Given the description of an element on the screen output the (x, y) to click on. 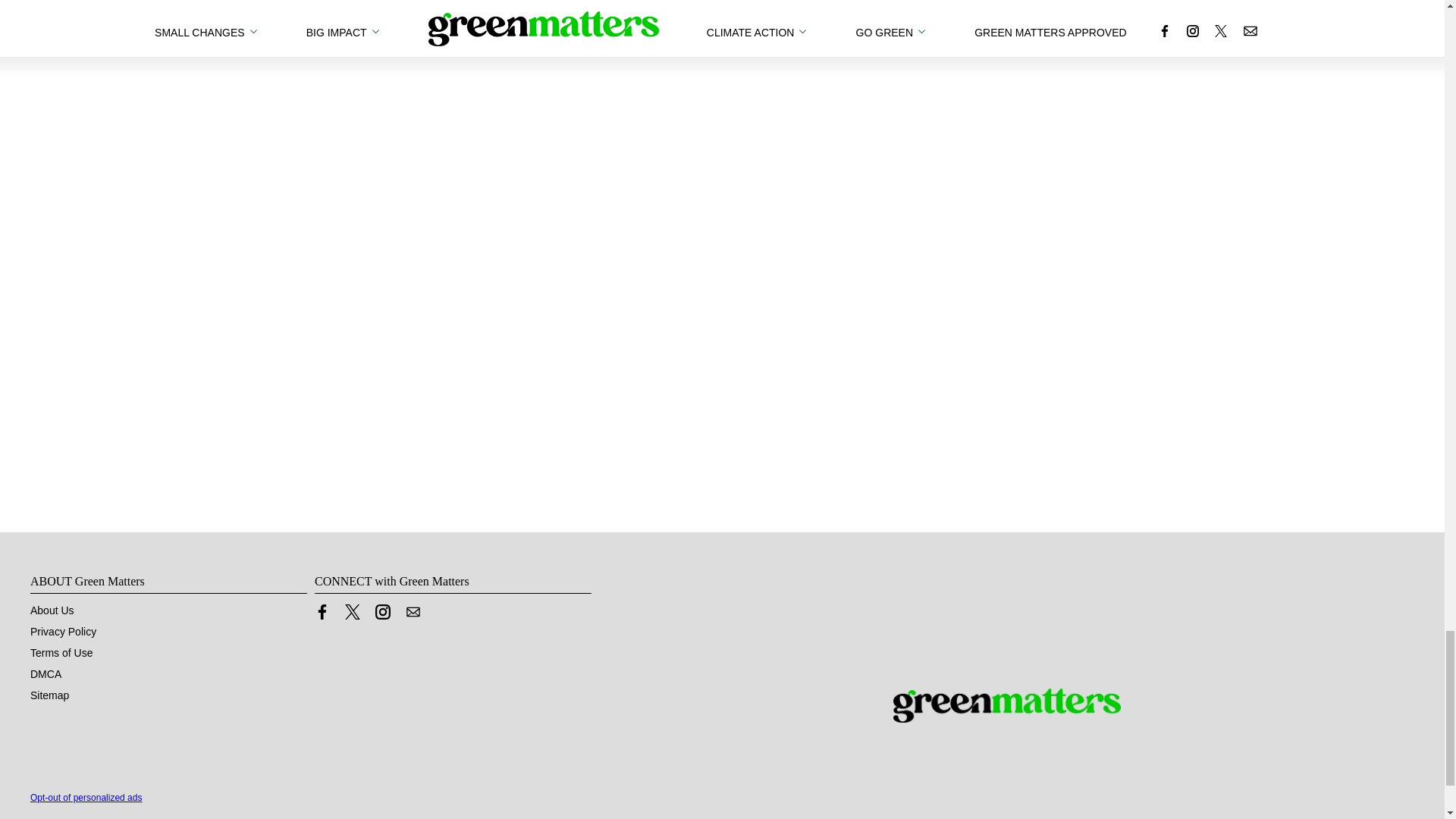
Contact us by Email (413, 611)
Link to X (352, 611)
Link to Facebook (322, 611)
DMCA (45, 674)
About Us (52, 610)
Sitemap (49, 695)
Link to Instagram (382, 611)
Terms of Use (61, 653)
Privacy Policy (63, 631)
